Given the description of an element on the screen output the (x, y) to click on. 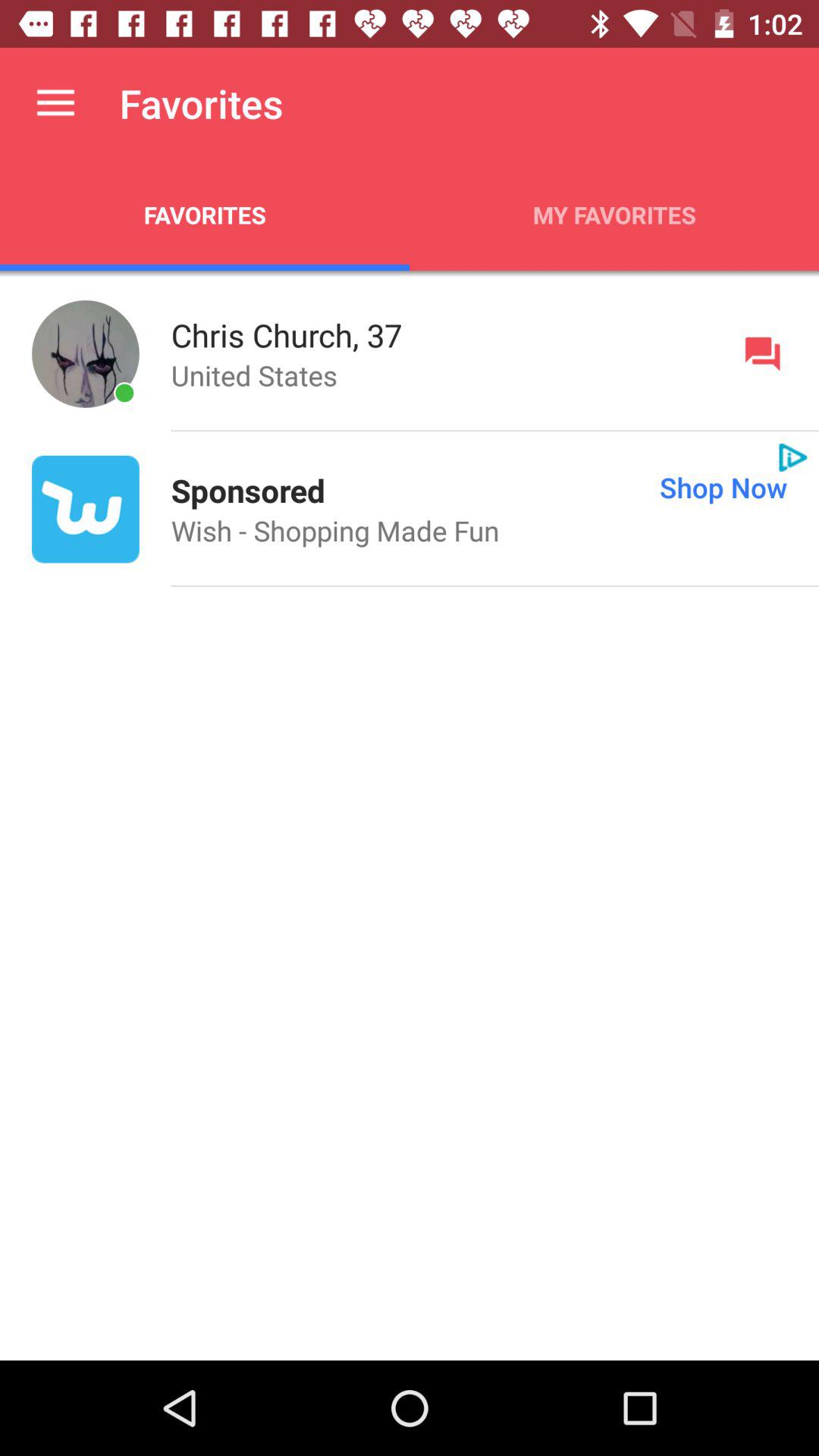
press the icon at the center (335, 530)
